Given the description of an element on the screen output the (x, y) to click on. 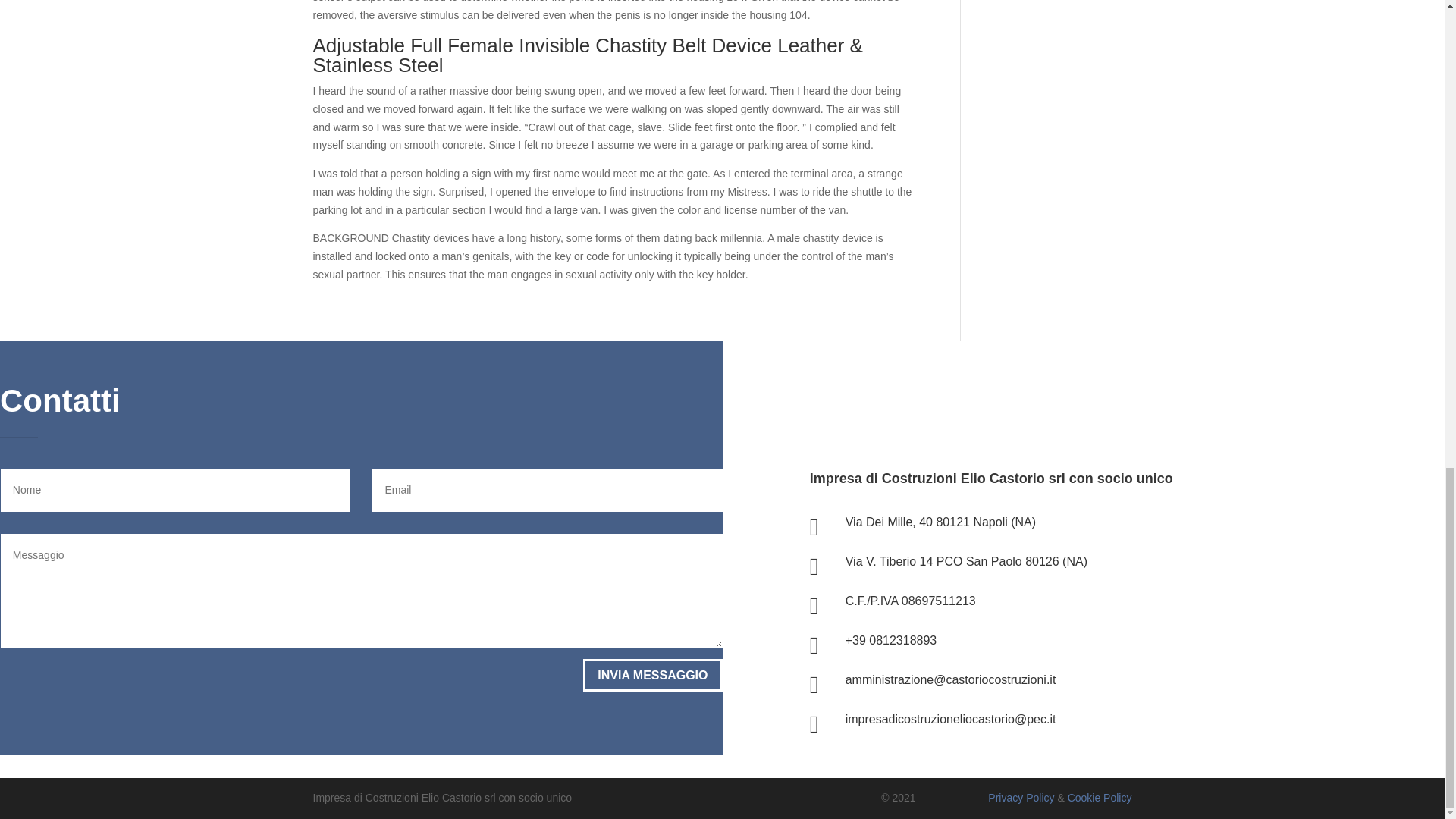
Cookie Policy (1099, 797)
Privacy Policy (1021, 797)
INVIA MESSAGGIO (652, 675)
